Given the description of an element on the screen output the (x, y) to click on. 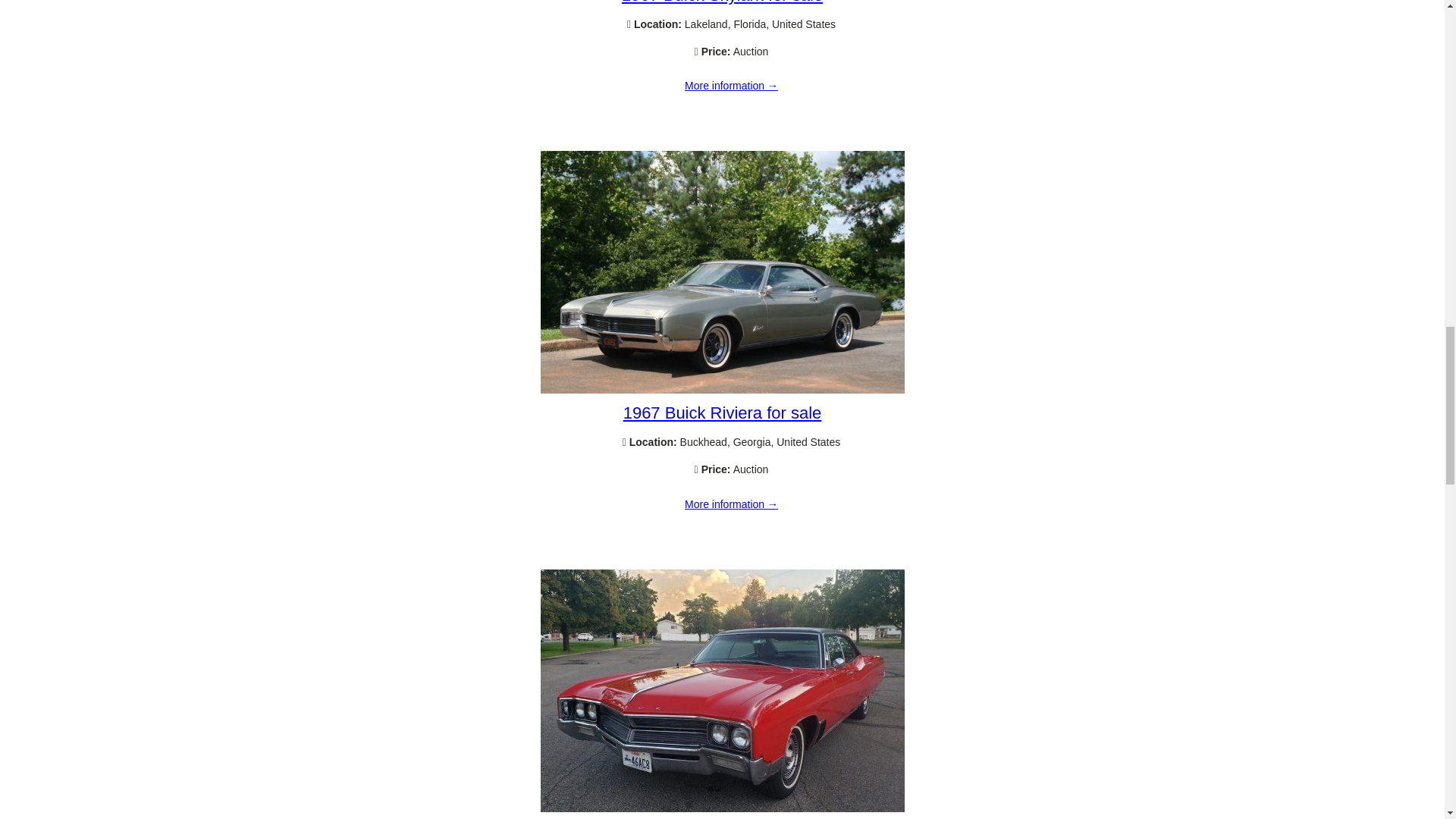
1967 Buick Skylark for sale (721, 2)
1967 Buick Riviera for sale (722, 389)
1967 Buick Riviera for sale (731, 504)
1967 Buick Skylark for sale (731, 86)
1967 Buick Wildcat for sale (722, 808)
1967 Buick Riviera for sale (722, 412)
